Given the description of an element on the screen output the (x, y) to click on. 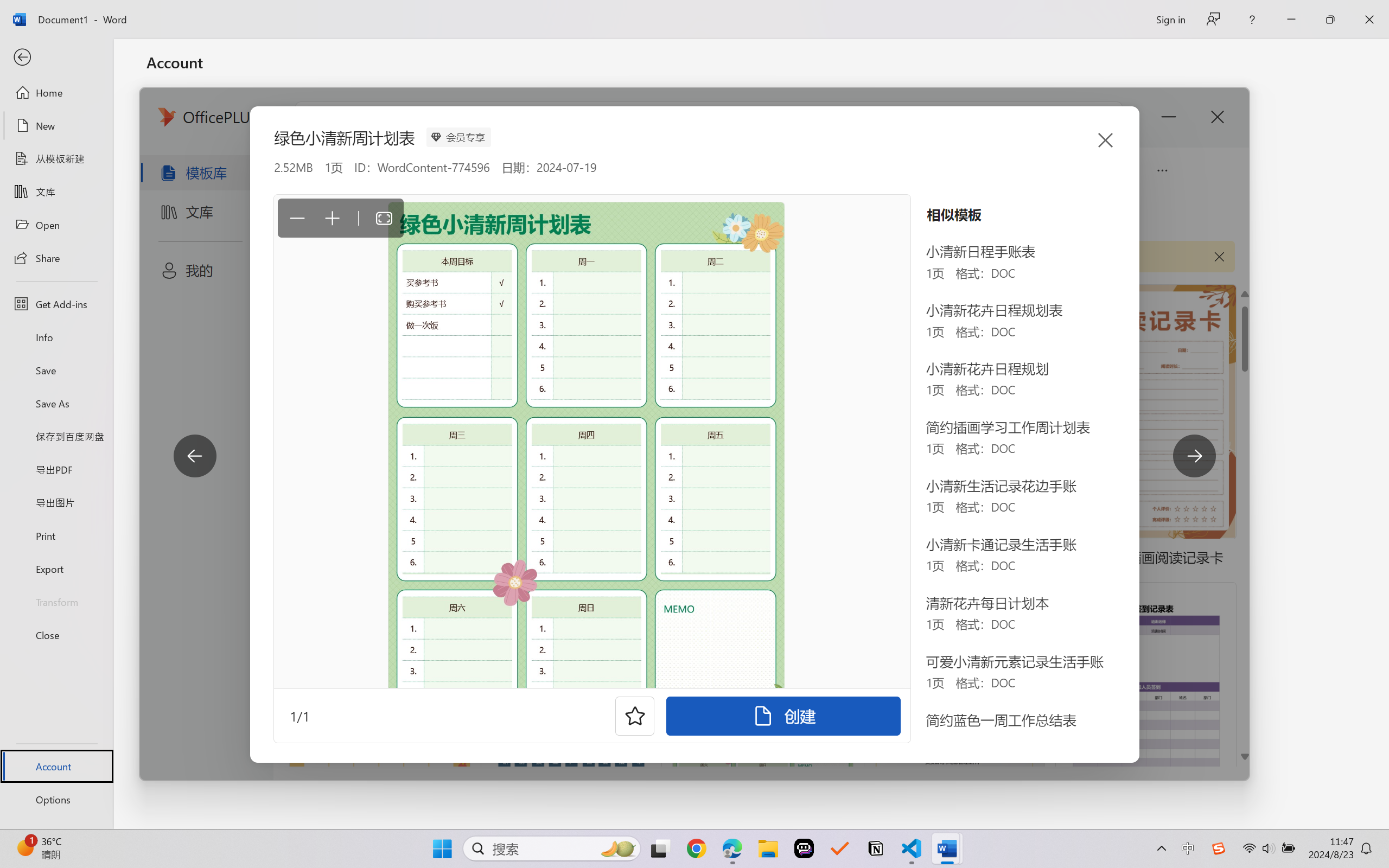
PowerPoint (564, 241)
Export (56, 568)
OneNote (584, 241)
Print (56, 535)
New (56, 125)
Manage Settings (193, 115)
Excel (543, 241)
Info (56, 337)
